Given the description of an element on the screen output the (x, y) to click on. 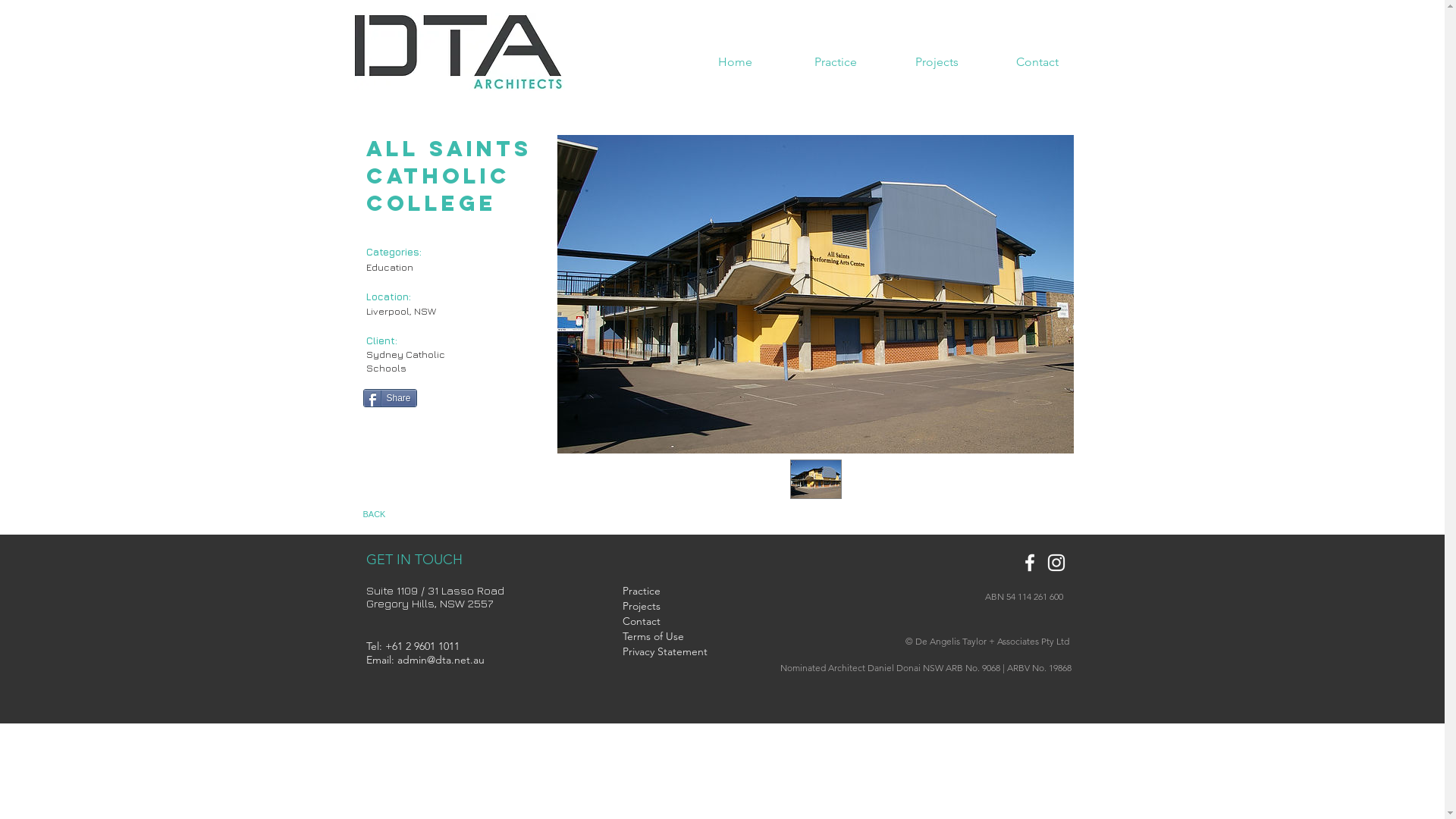
Home Element type: text (734, 62)
Projects Element type: text (658, 606)
Share Element type: text (389, 398)
Terms of Use Element type: text (666, 636)
admin@dta.net.au Element type: text (440, 659)
Practice Element type: text (658, 591)
BACK Element type: text (387, 514)
Contact Element type: text (1037, 62)
Projects Element type: text (935, 62)
Contact Element type: text (658, 621)
Practice Element type: text (835, 62)
Privacy Statement Element type: text (663, 651)
DTA Logo BLACK.png Element type: hover (458, 51)
